Given the description of an element on the screen output the (x, y) to click on. 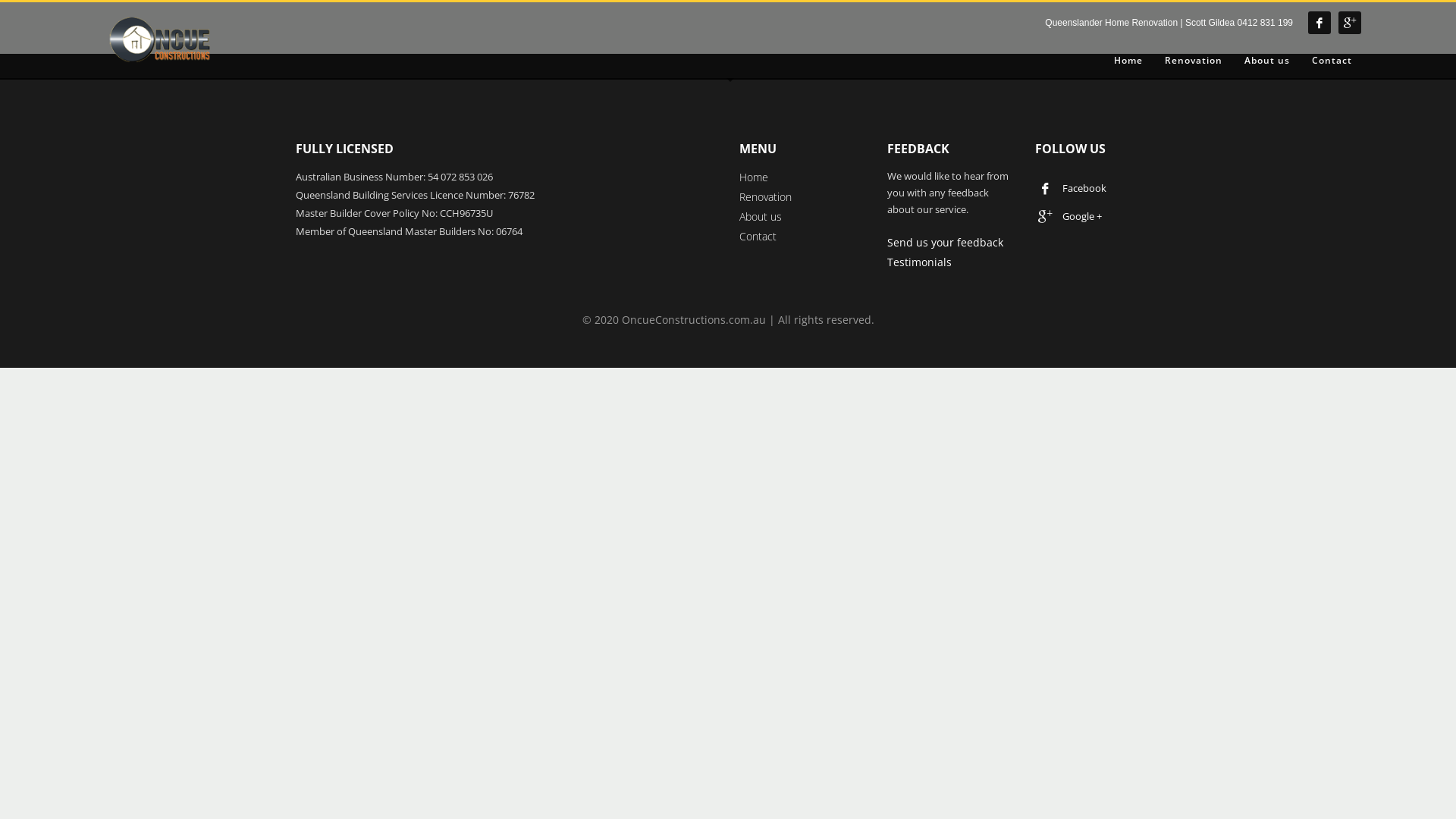
About us Element type: text (760, 216)
Home Element type: text (1127, 60)
Testimonials Element type: text (919, 261)
Renovation Element type: text (1193, 60)
Send us your feedback Element type: text (945, 242)
About us Element type: text (1267, 60)
Contact Element type: text (1331, 60)
Facebook Element type: hover (1319, 22)
Home Element type: text (753, 176)
Facebook Element type: text (1071, 187)
Google + Element type: hover (1349, 22)
Renovation Element type: text (765, 196)
0412 831 199 Element type: text (1264, 22)
Contact Element type: text (757, 236)
Google + Element type: text (1071, 216)
Renovation and New Constructions Service Element type: hover (161, 41)
